Given the description of an element on the screen output the (x, y) to click on. 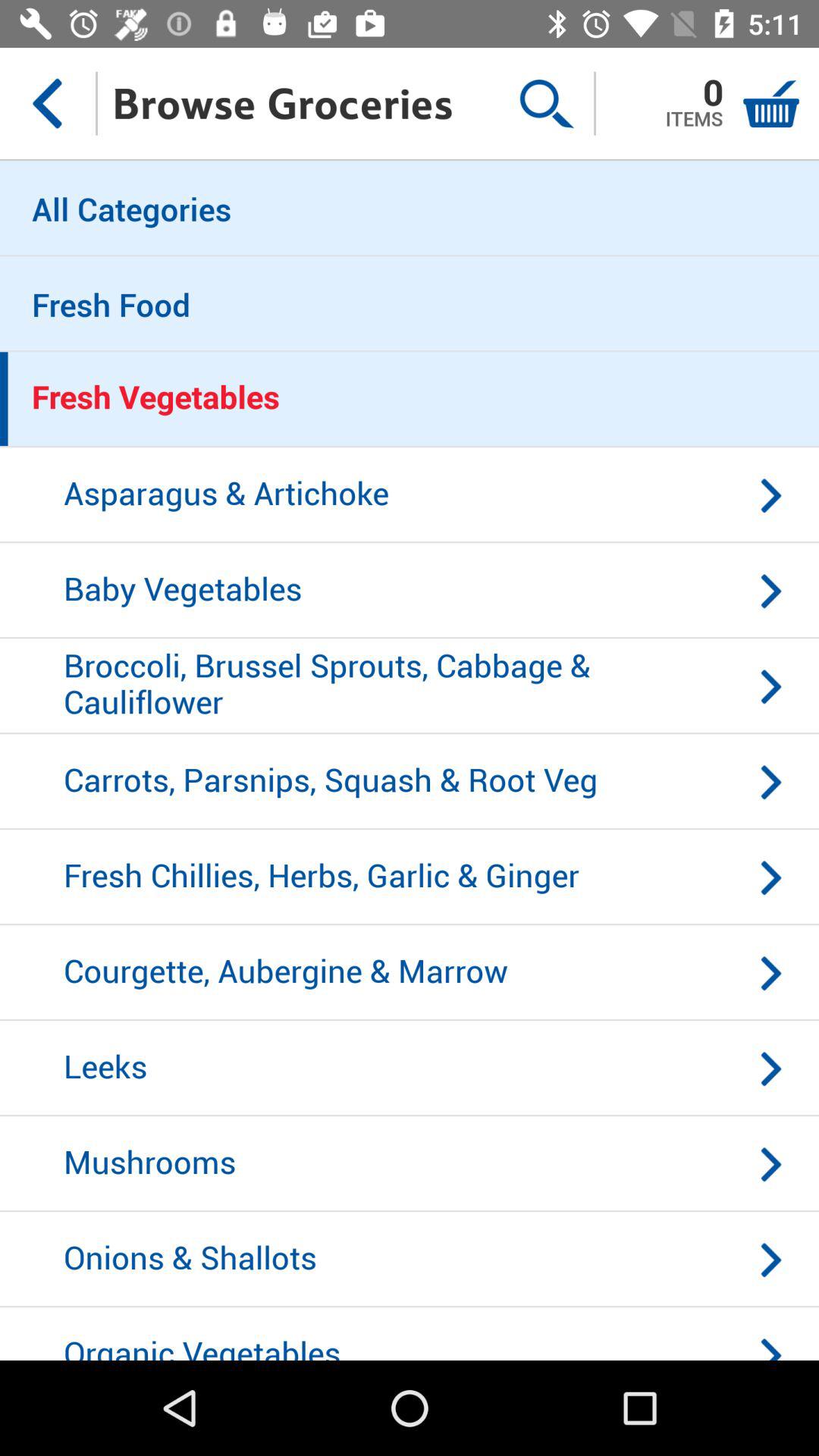
press item above onions & shallots icon (409, 1164)
